Given the description of an element on the screen output the (x, y) to click on. 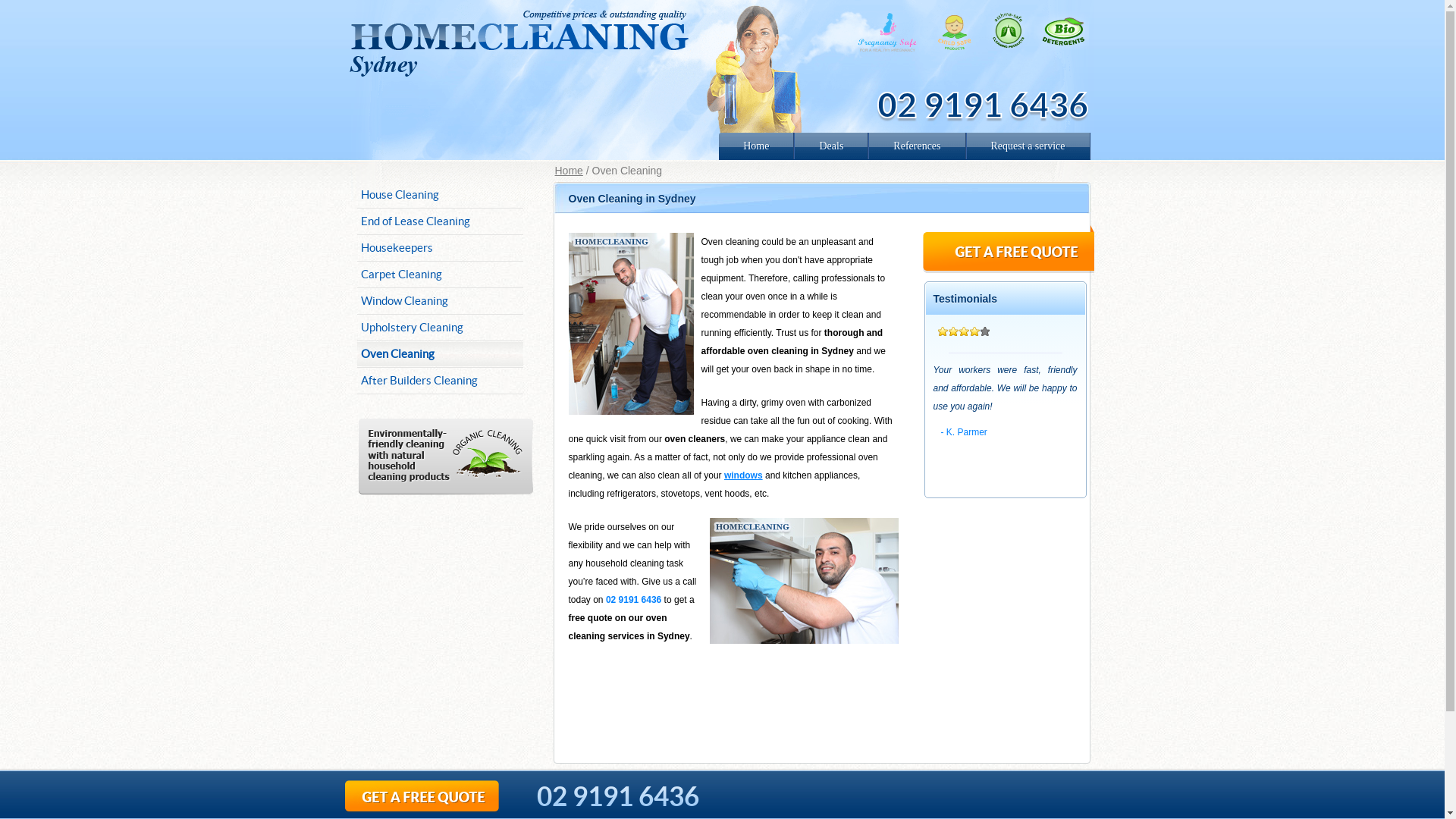
Window Cleaning Element type: text (439, 300)
Carpet Cleaning Element type: text (439, 274)
Request a service Element type: text (1028, 145)
02 9191 6436 Element type: text (981, 104)
Deals Element type: text (830, 145)
Oven Cleaning in Sydney Element type: hover (630, 323)
Testimonials Element type: text (1004, 298)
Housekeepers Element type: text (439, 247)
Oven Cleaners Sydney Element type: hover (803, 580)
Upholstery Cleaning Element type: text (439, 327)
House Cleaning Element type: text (439, 194)
windows Element type: text (743, 475)
References Element type: text (916, 145)
Book a Sydney Home Cleaner Element type: hover (436, 796)
Home Element type: text (755, 145)
After Builders Cleaning Element type: text (439, 380)
Oven Cleaning Element type: text (439, 354)
Home Element type: text (569, 170)
End of Lease Cleaning Element type: text (439, 221)
02 9191 6436 Element type: text (614, 790)
Book a Cleaner Element type: text (1009, 249)
